Given the description of an element on the screen output the (x, y) to click on. 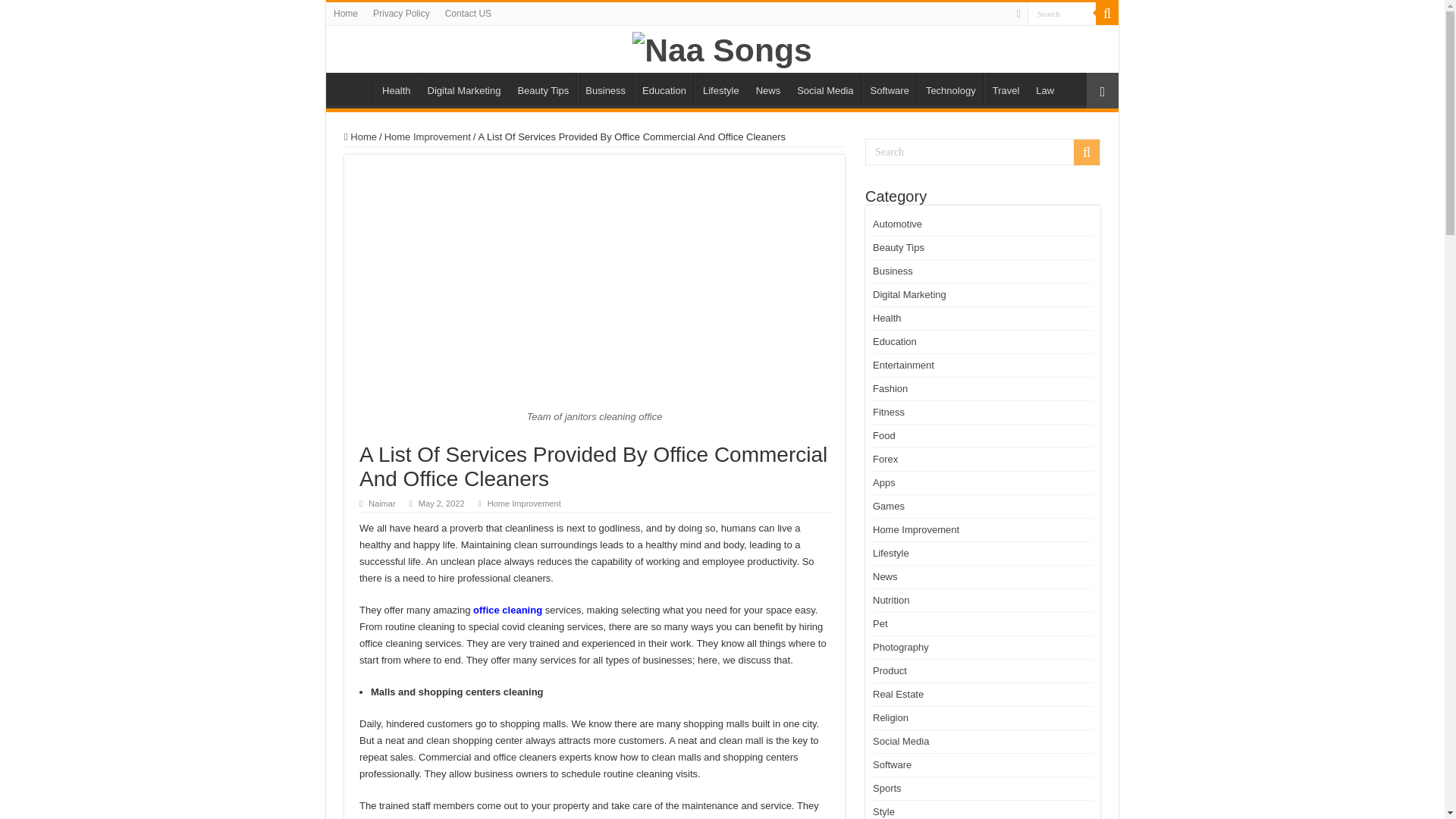
Lifestyle (720, 88)
Naa Songs (720, 47)
Software (889, 88)
Search (1061, 13)
Home (345, 13)
Search (1107, 13)
Search (1061, 13)
Business (604, 88)
Search (1061, 13)
Digital Marketing (463, 88)
Home (352, 88)
Education (663, 88)
Home Improvement (427, 136)
Contact US (468, 13)
